Given the description of an element on the screen output the (x, y) to click on. 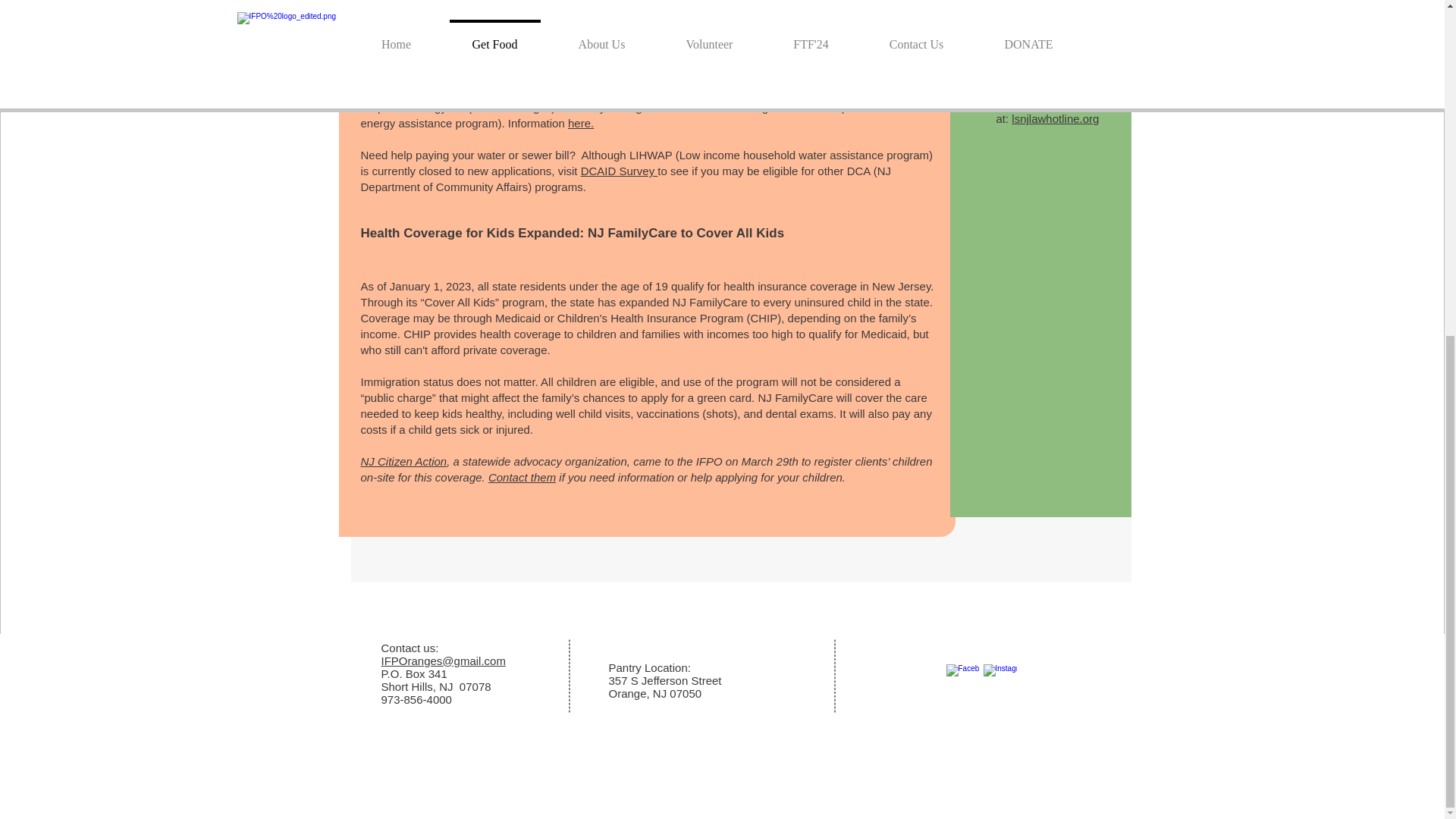
Contact them (521, 477)
here. (580, 123)
lsnjlawhotline.org (1055, 118)
DCAID Survey  (619, 170)
NJ Citizen Action (403, 461)
